Given the description of an element on the screen output the (x, y) to click on. 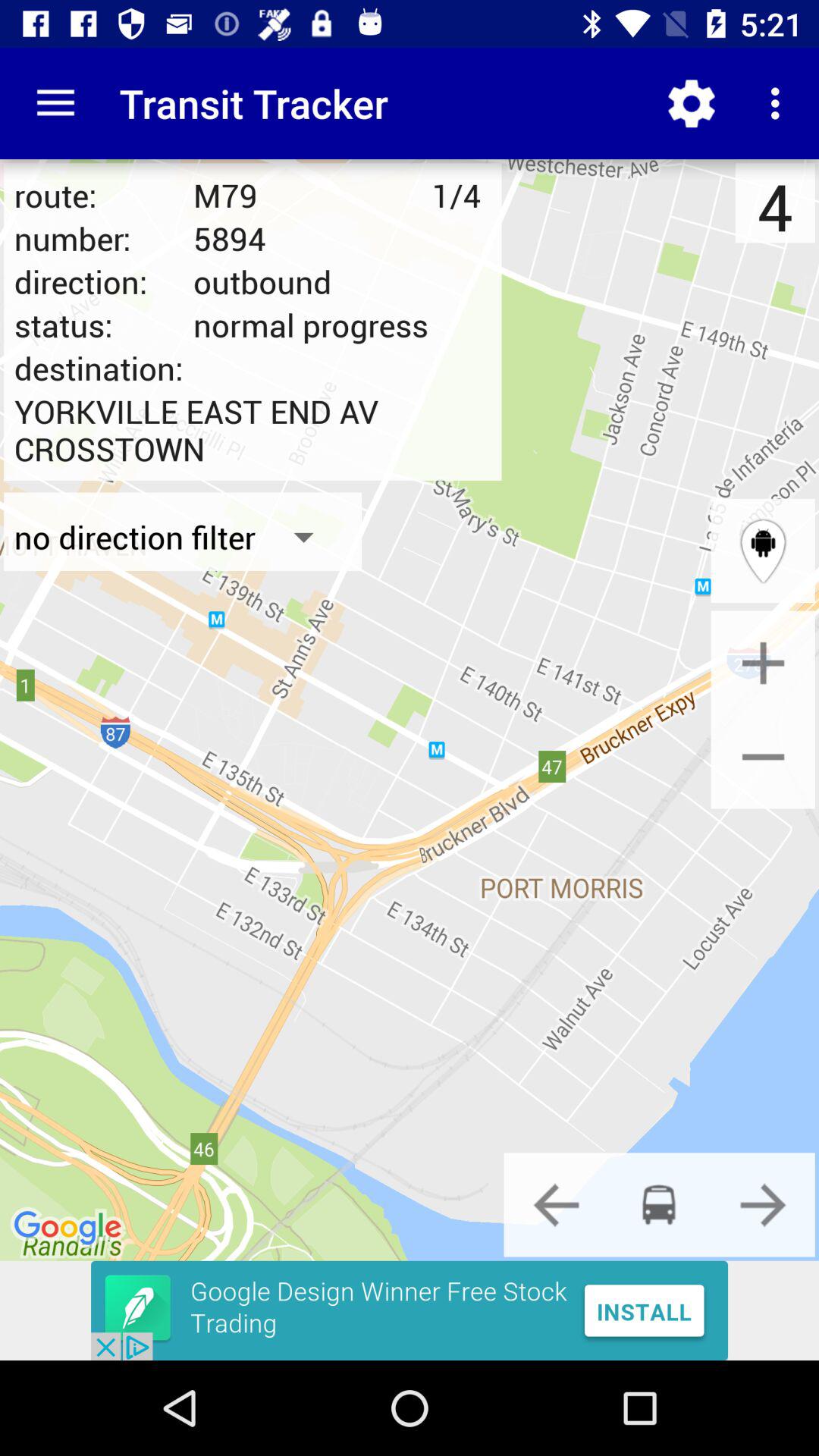
change view on a map (762, 550)
